Given the description of an element on the screen output the (x, y) to click on. 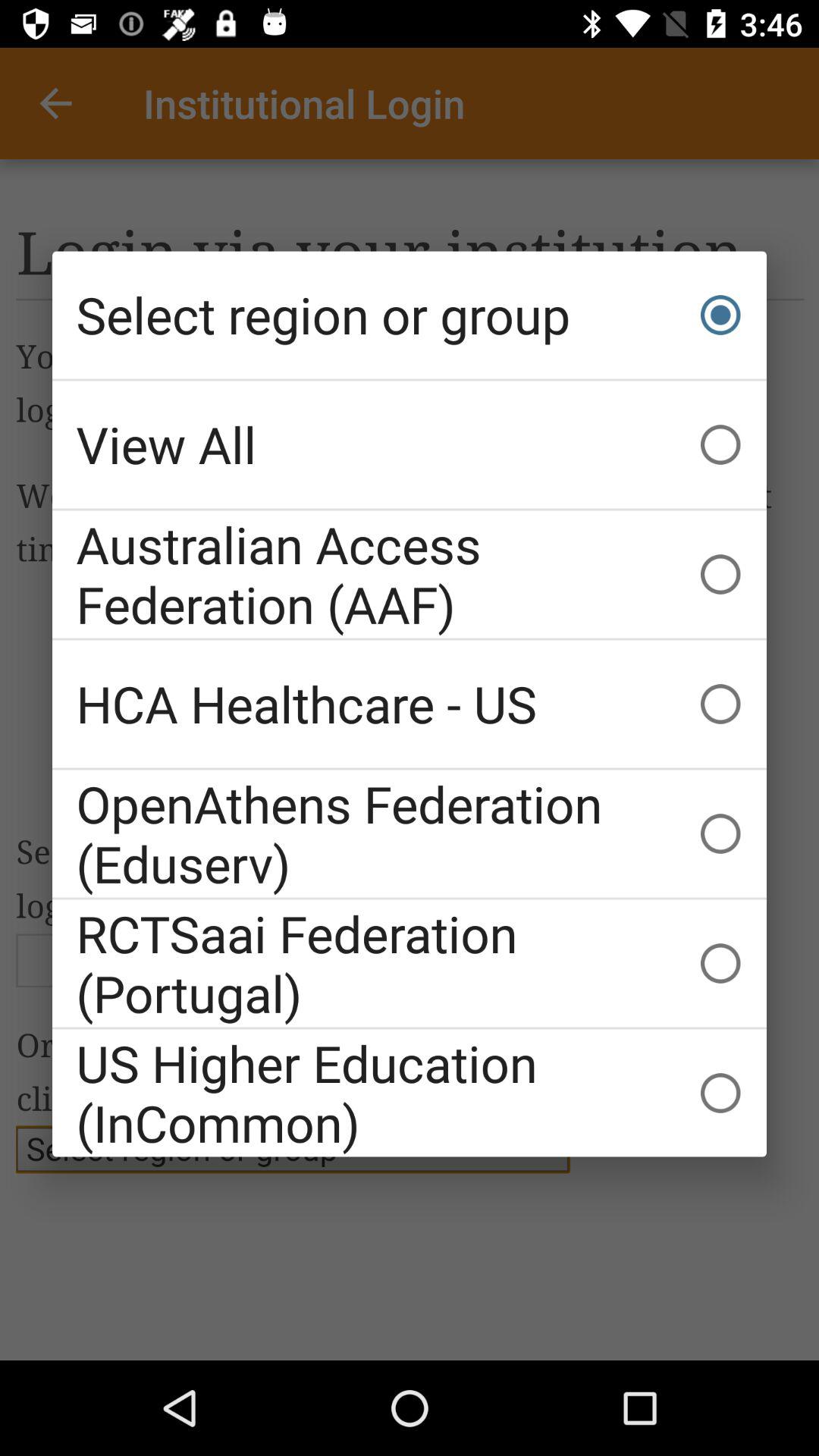
swipe to the hca healthcare - us item (409, 703)
